Given the description of an element on the screen output the (x, y) to click on. 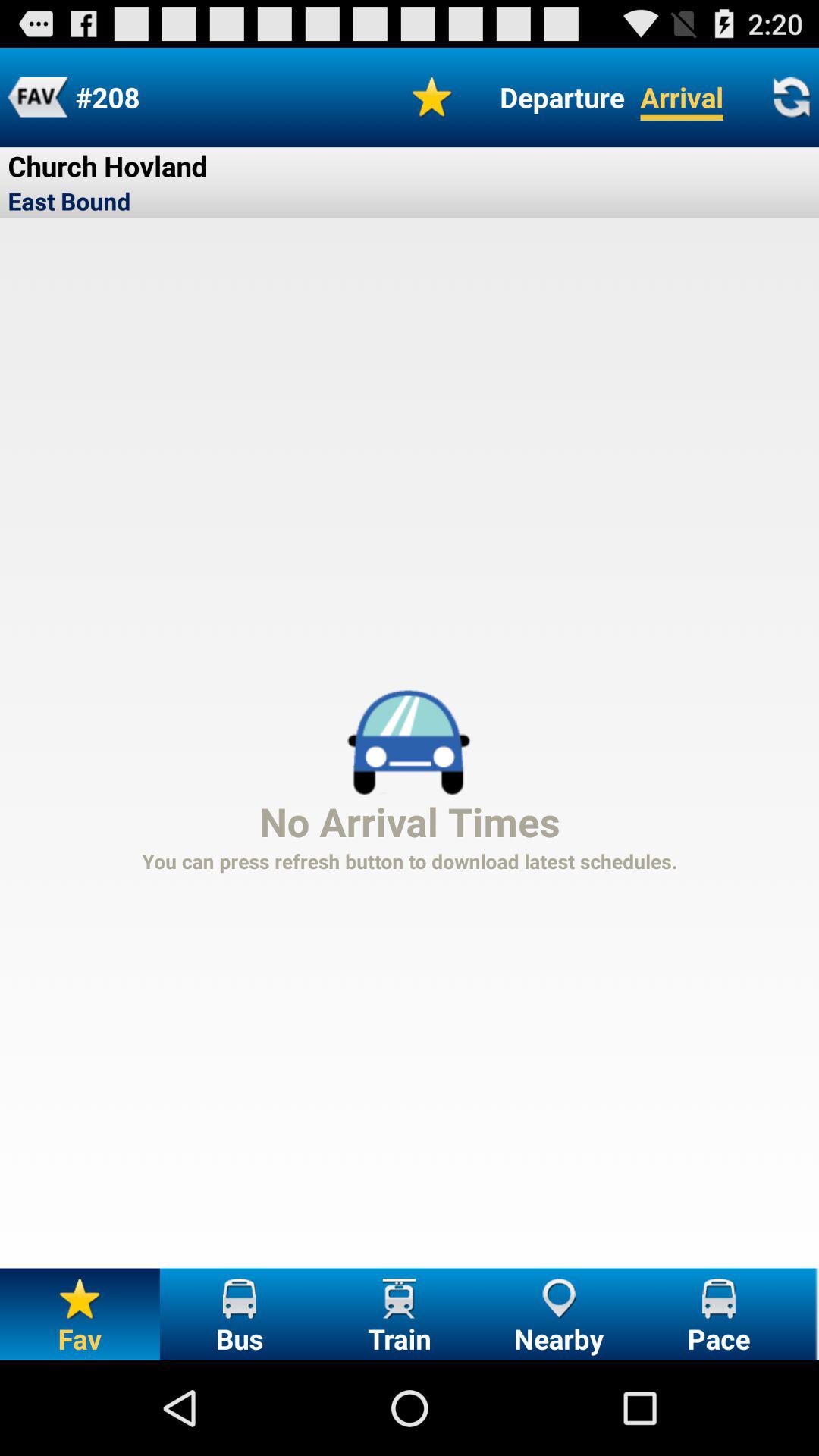
restart (791, 97)
